Given the description of an element on the screen output the (x, y) to click on. 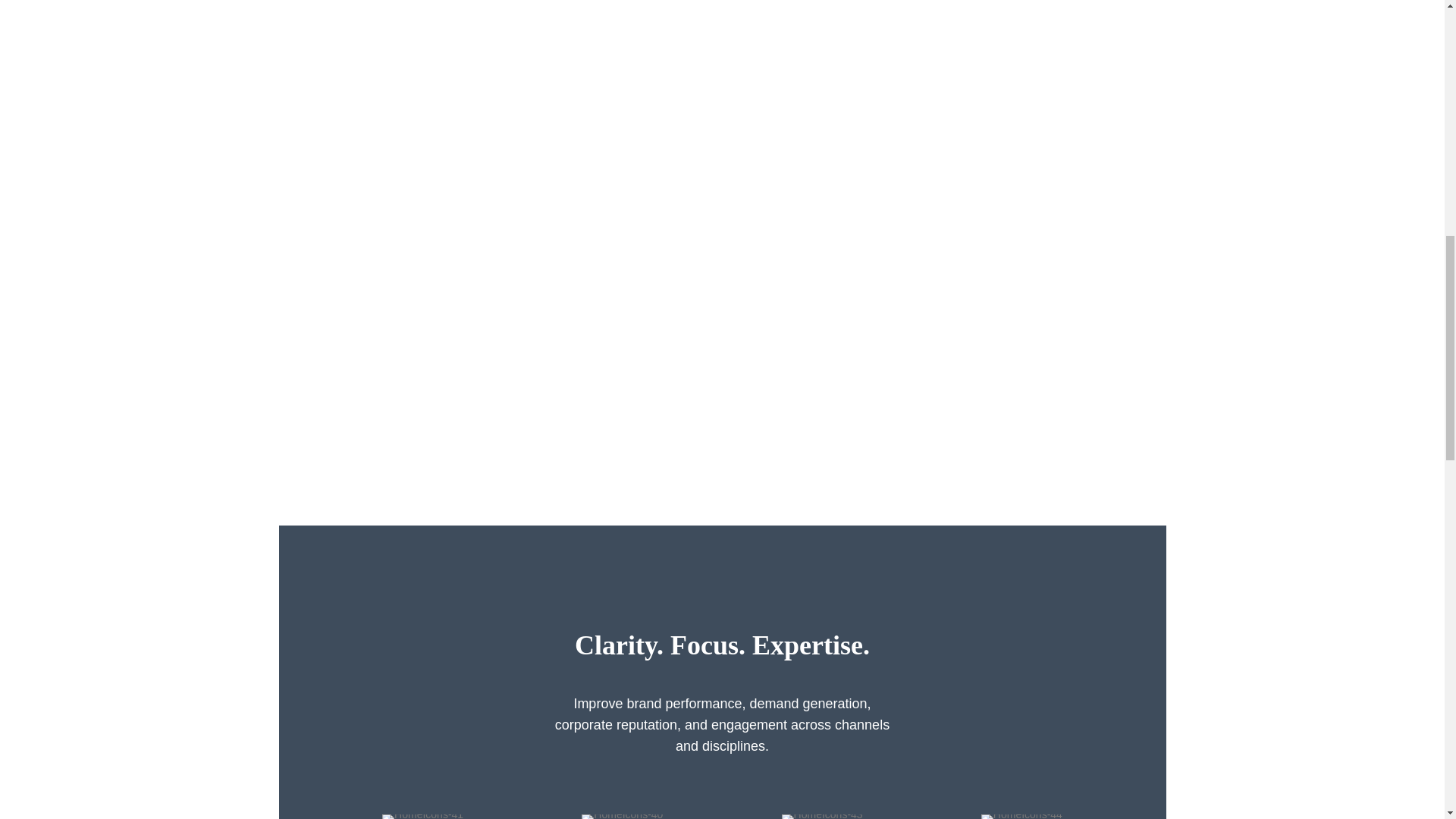
HomeIcons-41 (422, 816)
HomeIcons-43 (822, 816)
HomeIcons-40 (621, 816)
HomeIcons-44 (1021, 816)
